Given the description of an element on the screen output the (x, y) to click on. 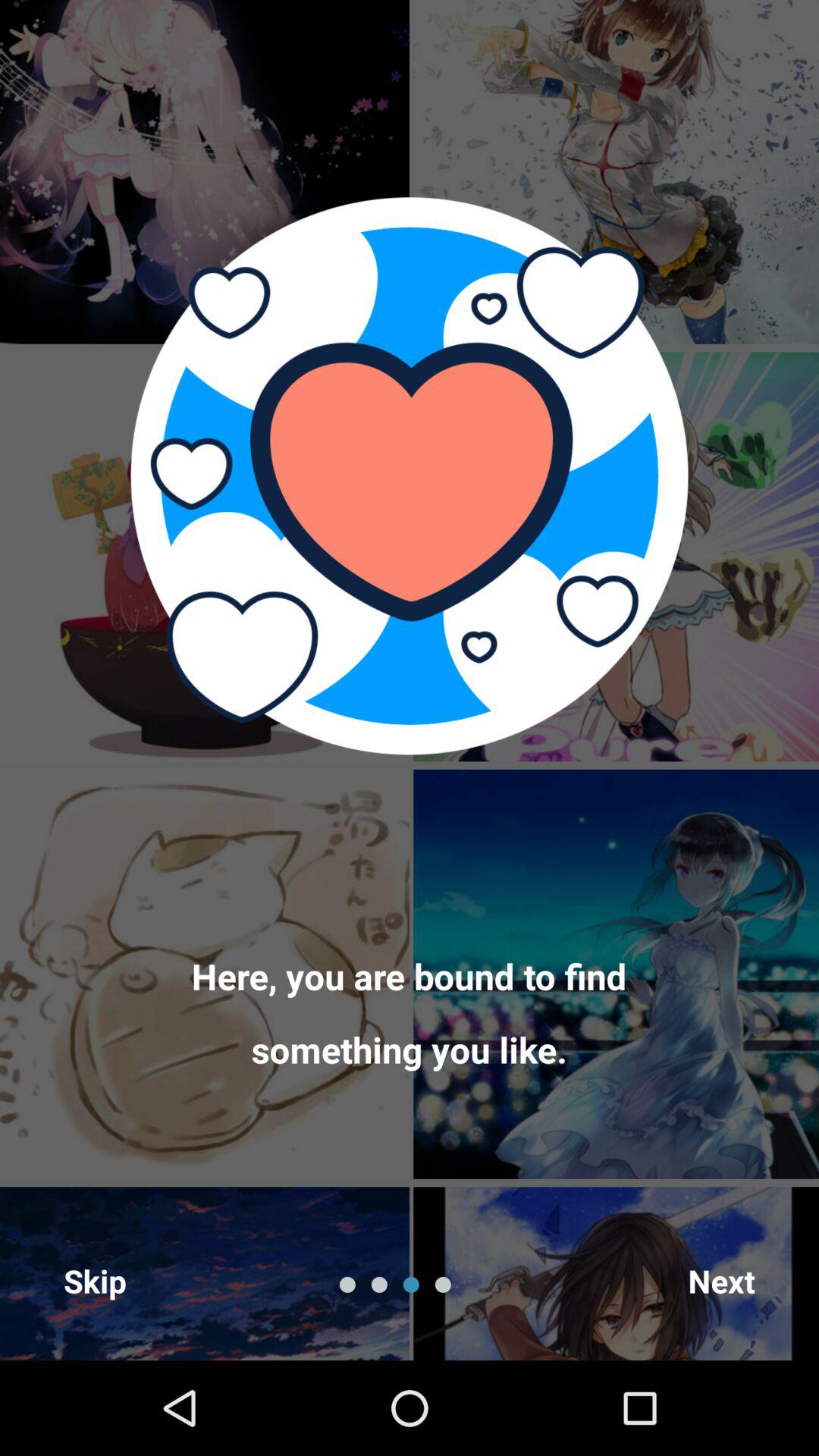
launch the next (721, 1280)
